Given the description of an element on the screen output the (x, y) to click on. 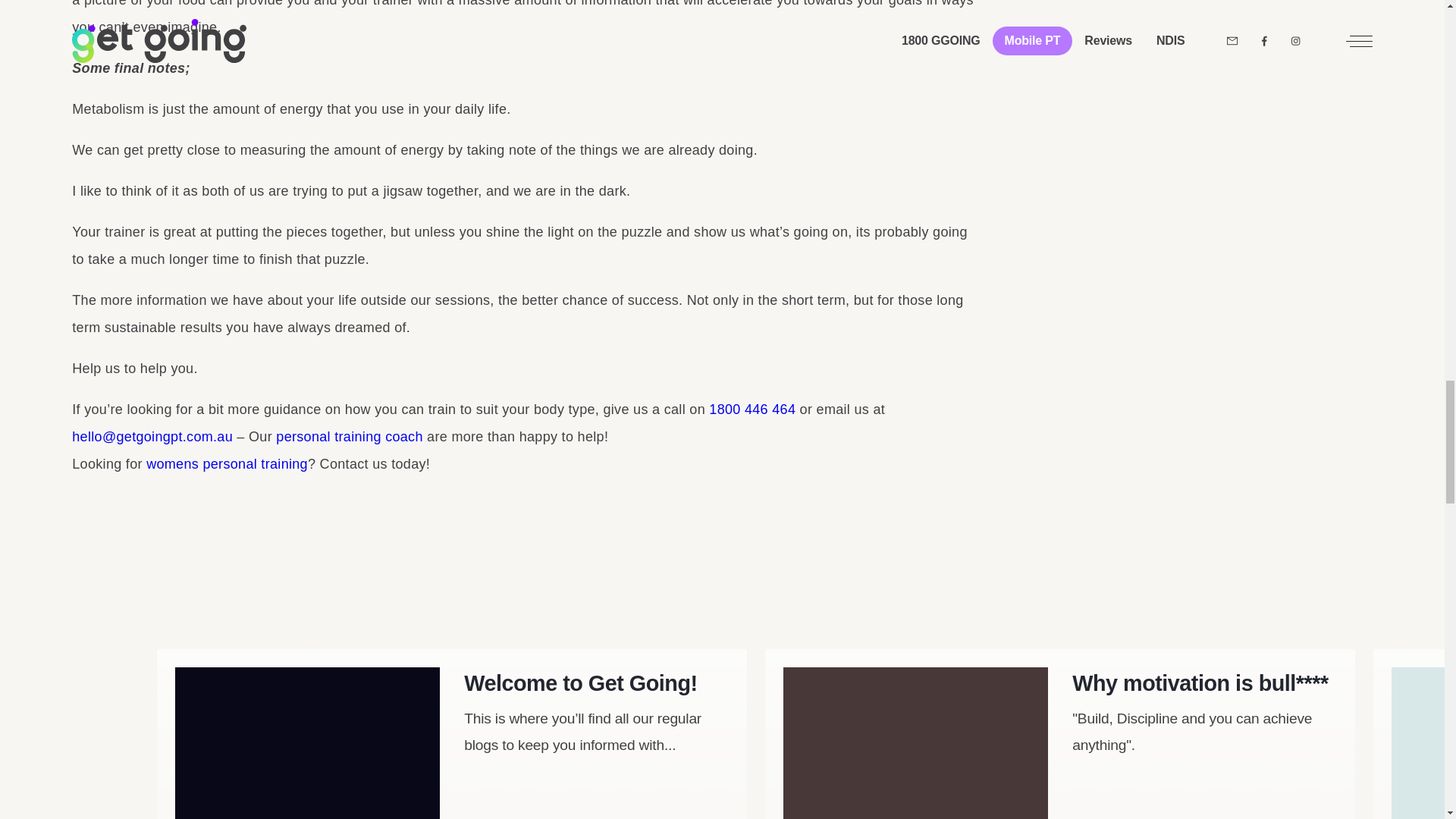
womens personal training (227, 463)
personal training coach (349, 436)
1800 446 464 (751, 409)
